Given the description of an element on the screen output the (x, y) to click on. 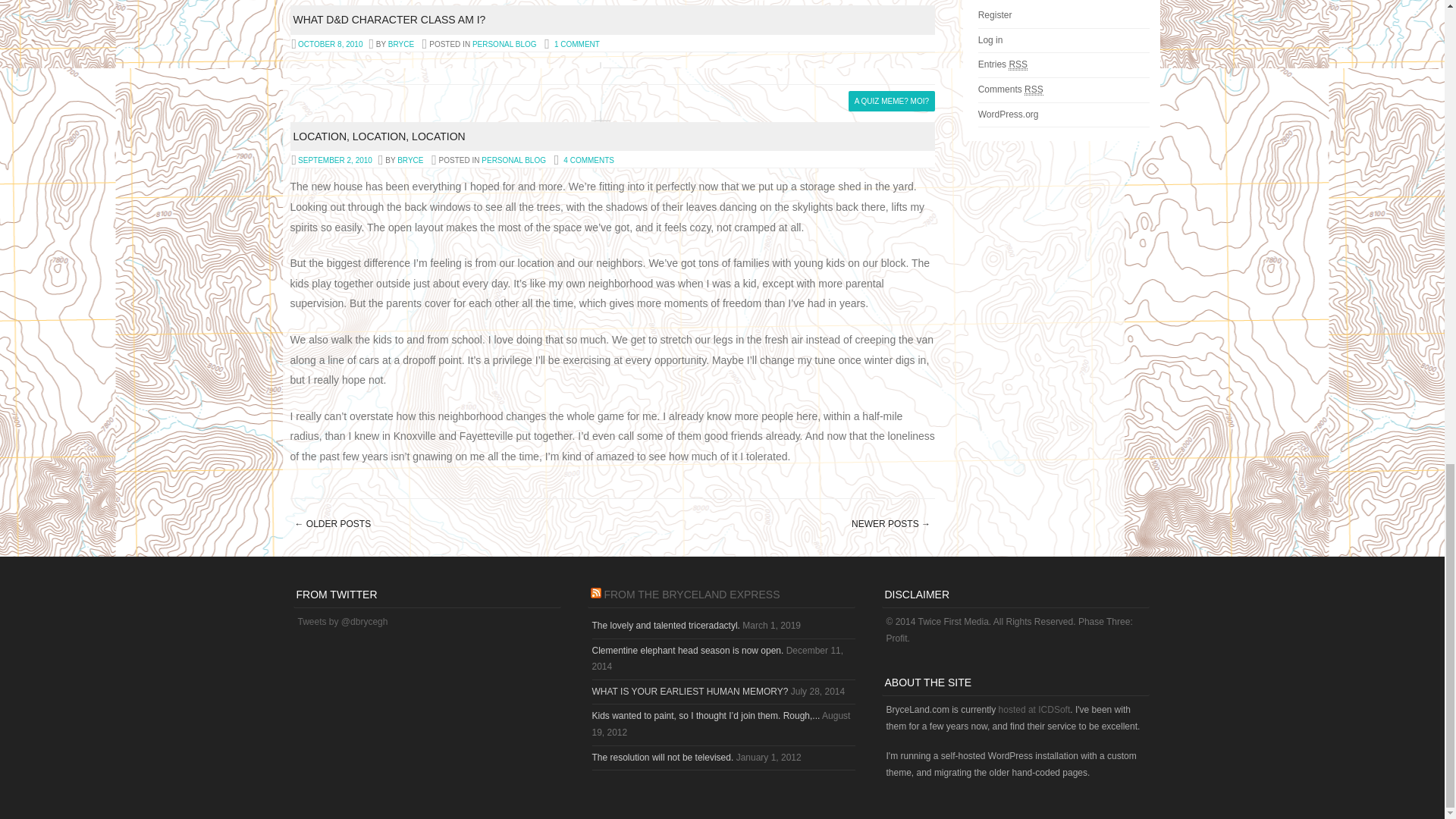
BRYCE (400, 44)
PERSONAL BLOG (504, 44)
10:37 am (329, 44)
View all posts by Bryce (400, 44)
1 COMMENT (576, 44)
A QUIZ MEME? MOI? (891, 100)
OCTOBER 8, 2010 (329, 44)
Permalink to Location, Location, Location (378, 136)
LOCATION, LOCATION, LOCATION (378, 136)
